Given the description of an element on the screen output the (x, y) to click on. 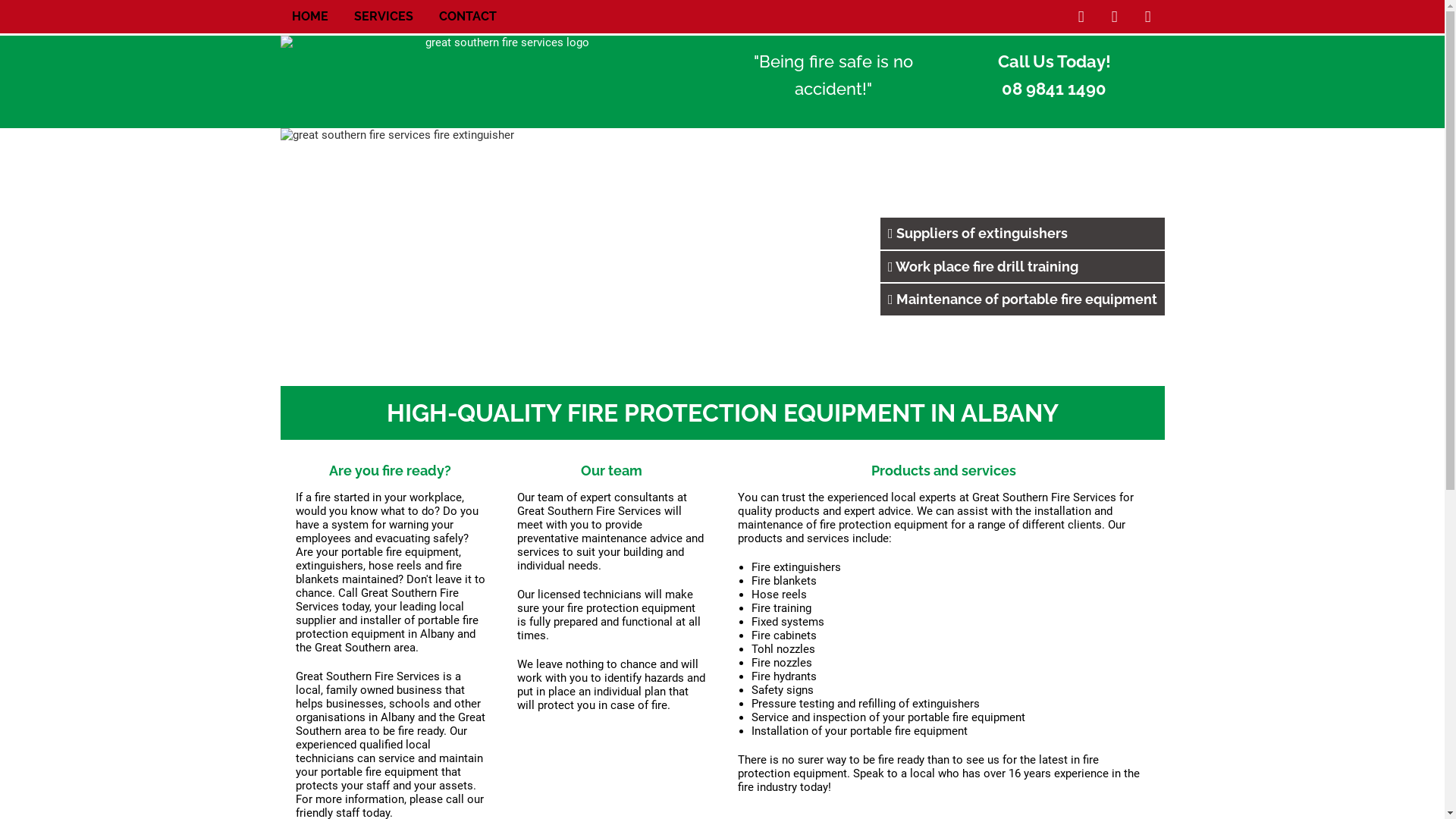
SERVICES Element type: text (382, 16)
HOME Element type: text (309, 16)
08 9841 1490 Element type: text (1053, 88)
great southern fire services fire extinguisher Element type: hover (722, 256)
great southern fire services logo Element type: hover (501, 78)
CONTACT Element type: text (466, 16)
